Given the description of an element on the screen output the (x, y) to click on. 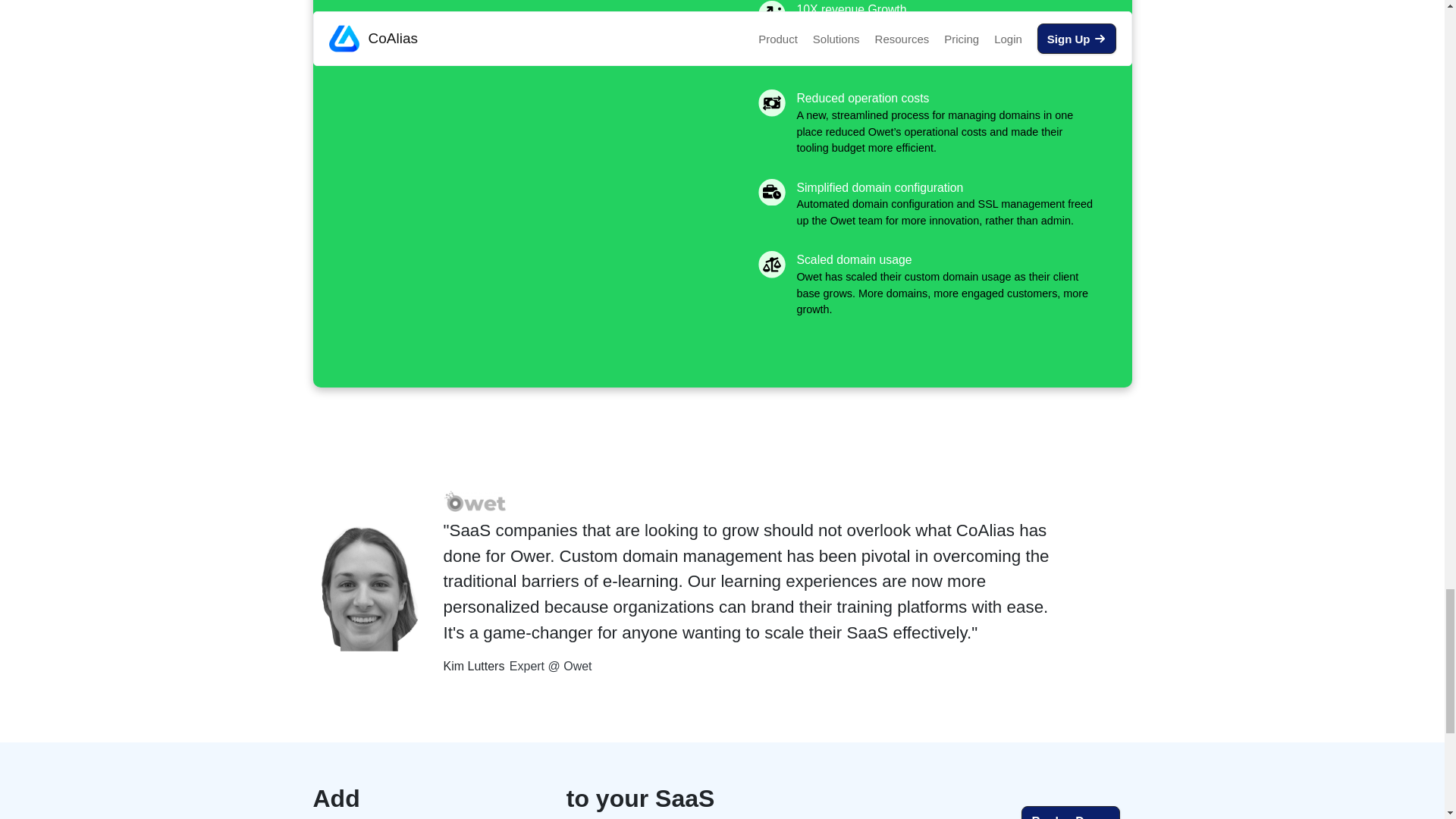
Book a Demo (1070, 812)
